Given the description of an element on the screen output the (x, y) to click on. 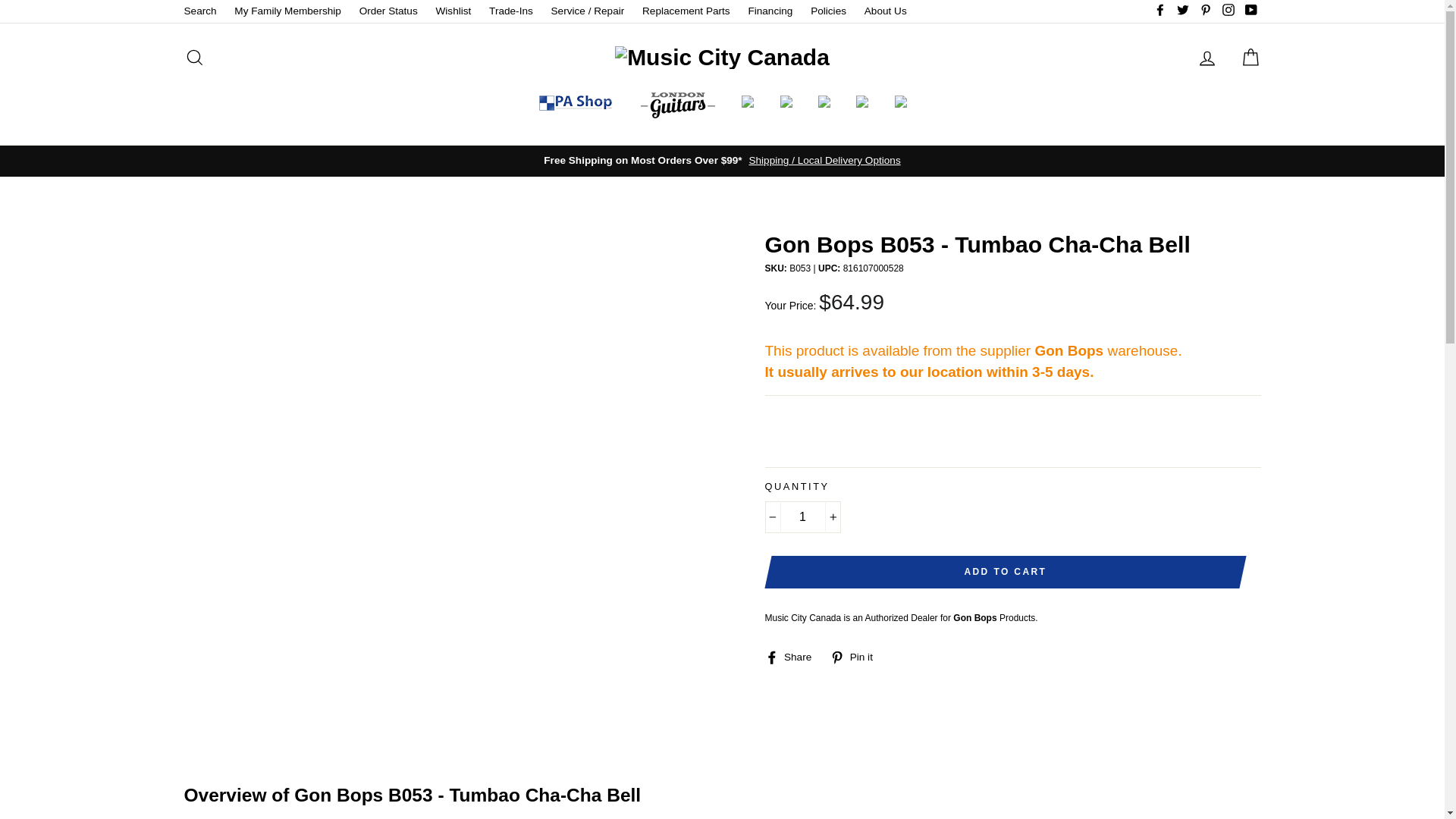
Pin on Pinterest (856, 656)
Gon Bops (974, 617)
1 (802, 517)
Share on Facebook (793, 656)
